Given the description of an element on the screen output the (x, y) to click on. 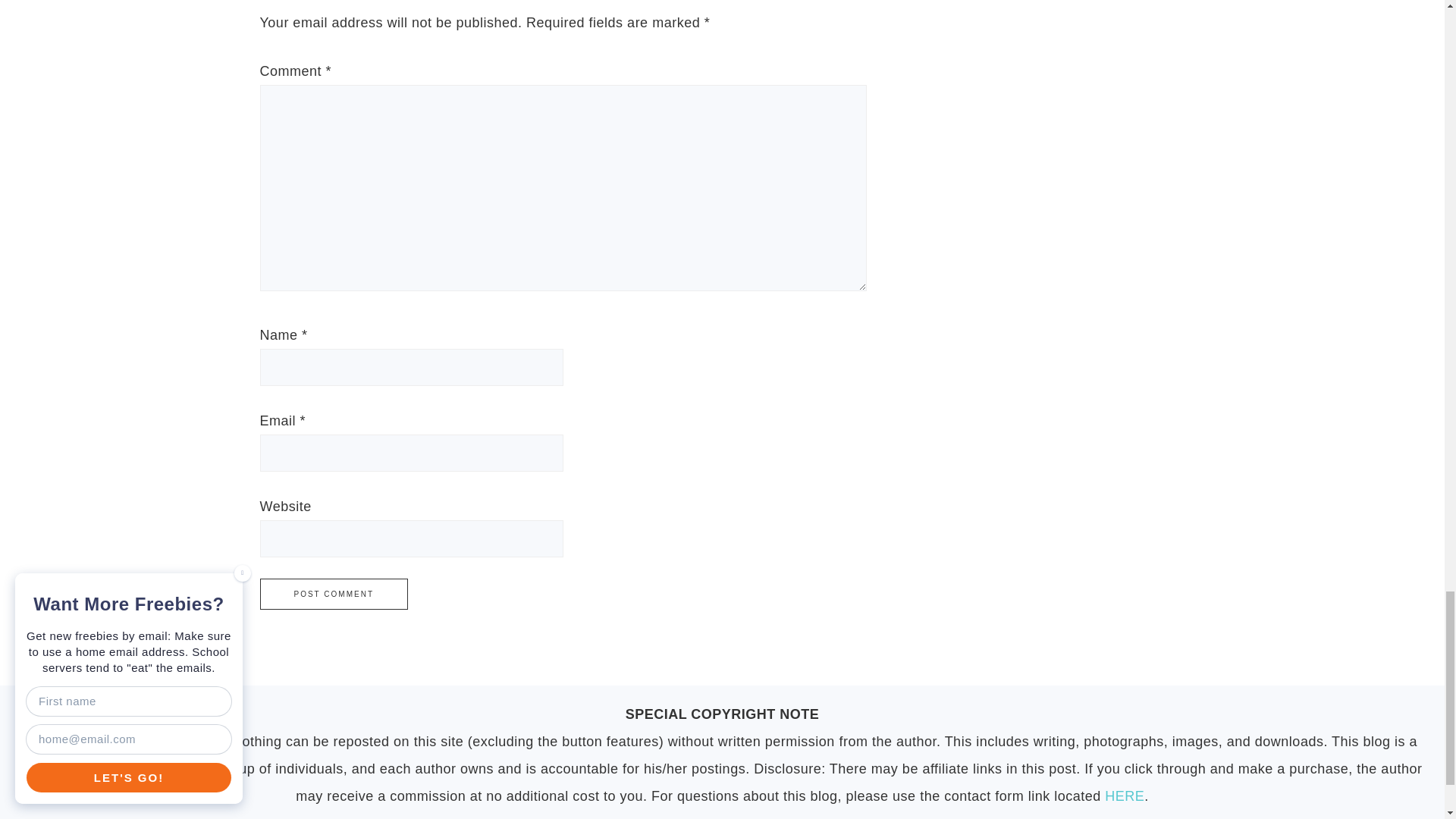
Post Comment (333, 593)
